Given the description of an element on the screen output the (x, y) to click on. 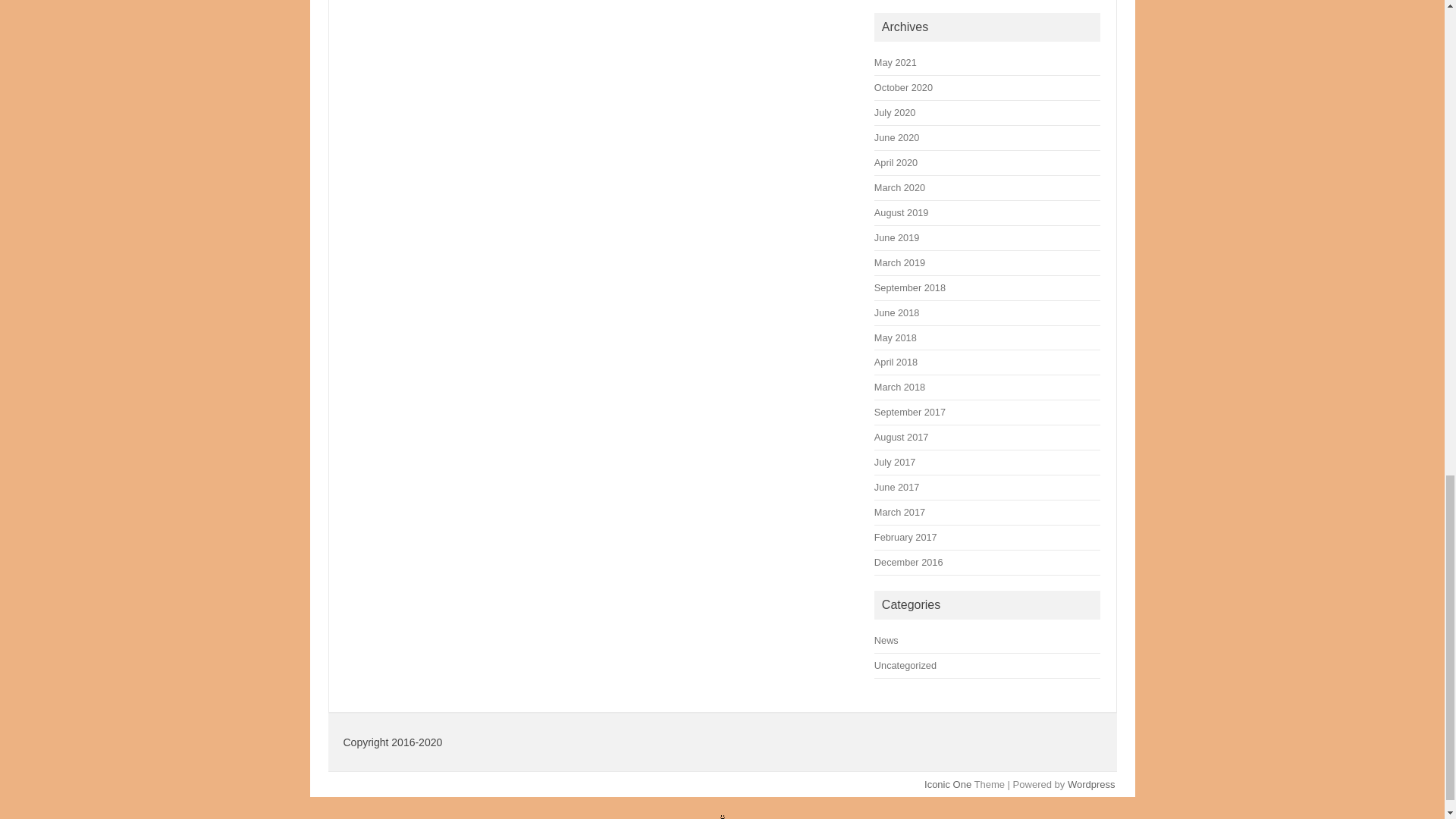
June 2020 (896, 137)
March 2019 (899, 262)
June 2018 (896, 312)
May 2021 (896, 61)
June 2019 (896, 237)
October 2020 (904, 87)
March 2020 (899, 187)
August 2019 (901, 212)
September 2018 (909, 287)
July 2020 (895, 112)
May 2018 (896, 337)
April 2018 (896, 361)
September 2017 (909, 411)
April 2020 (896, 162)
August 2017 (901, 437)
